Given the description of an element on the screen output the (x, y) to click on. 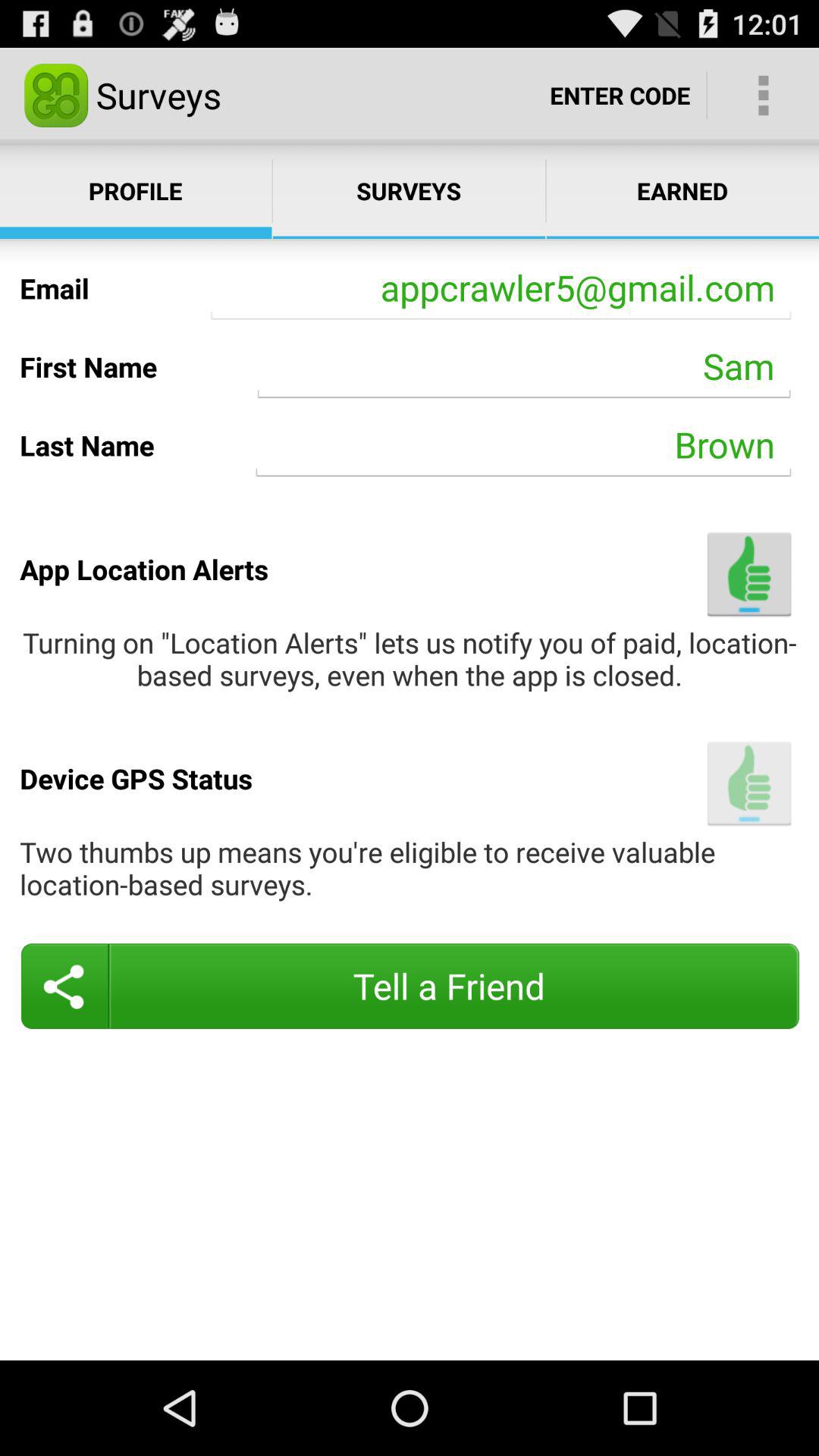
jump to the brown item (523, 445)
